Given the description of an element on the screen output the (x, y) to click on. 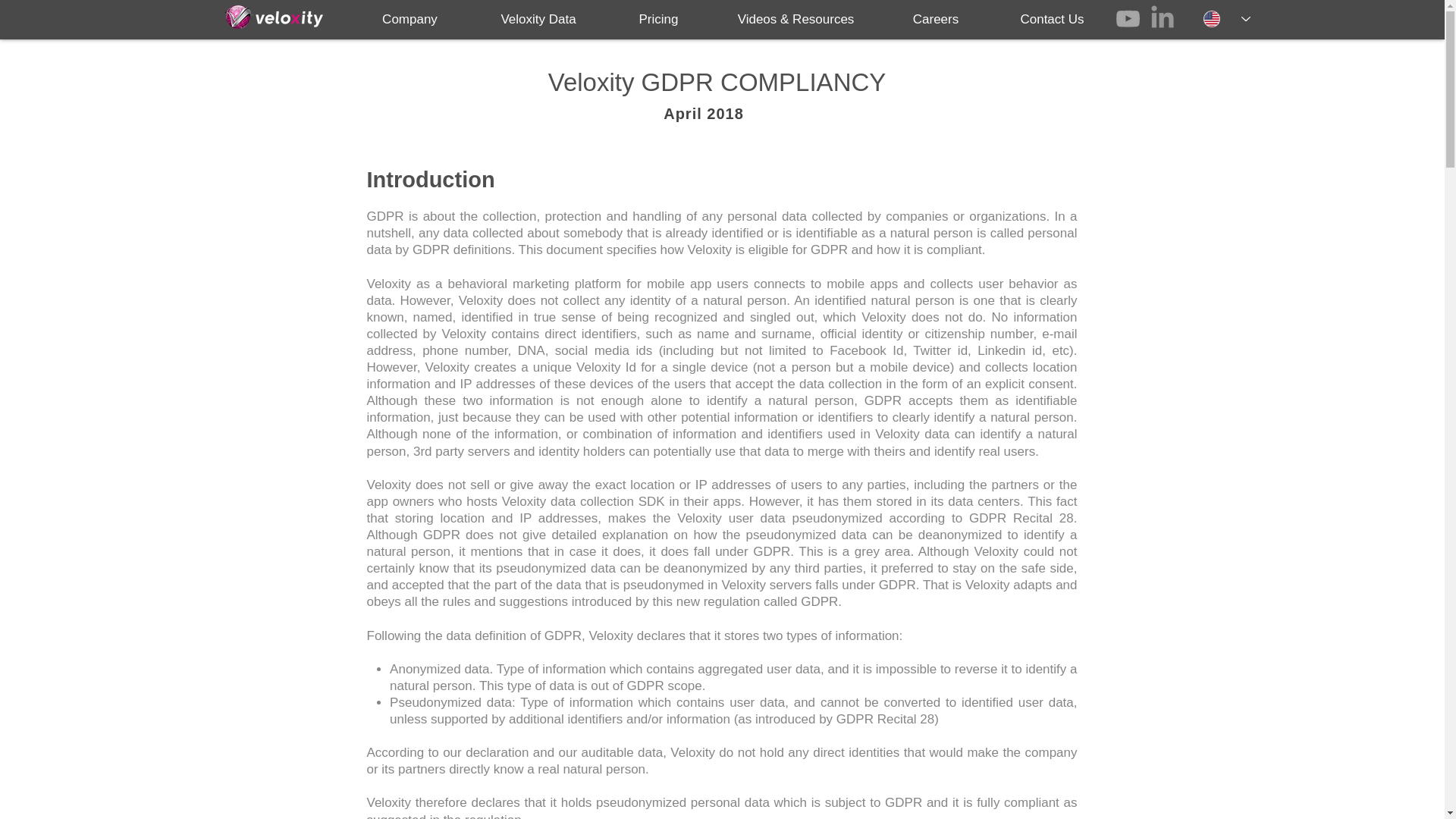
Careers (936, 16)
Pricing (659, 16)
Contact Us (1051, 16)
Veloxity Data (537, 16)
